Given the description of an element on the screen output the (x, y) to click on. 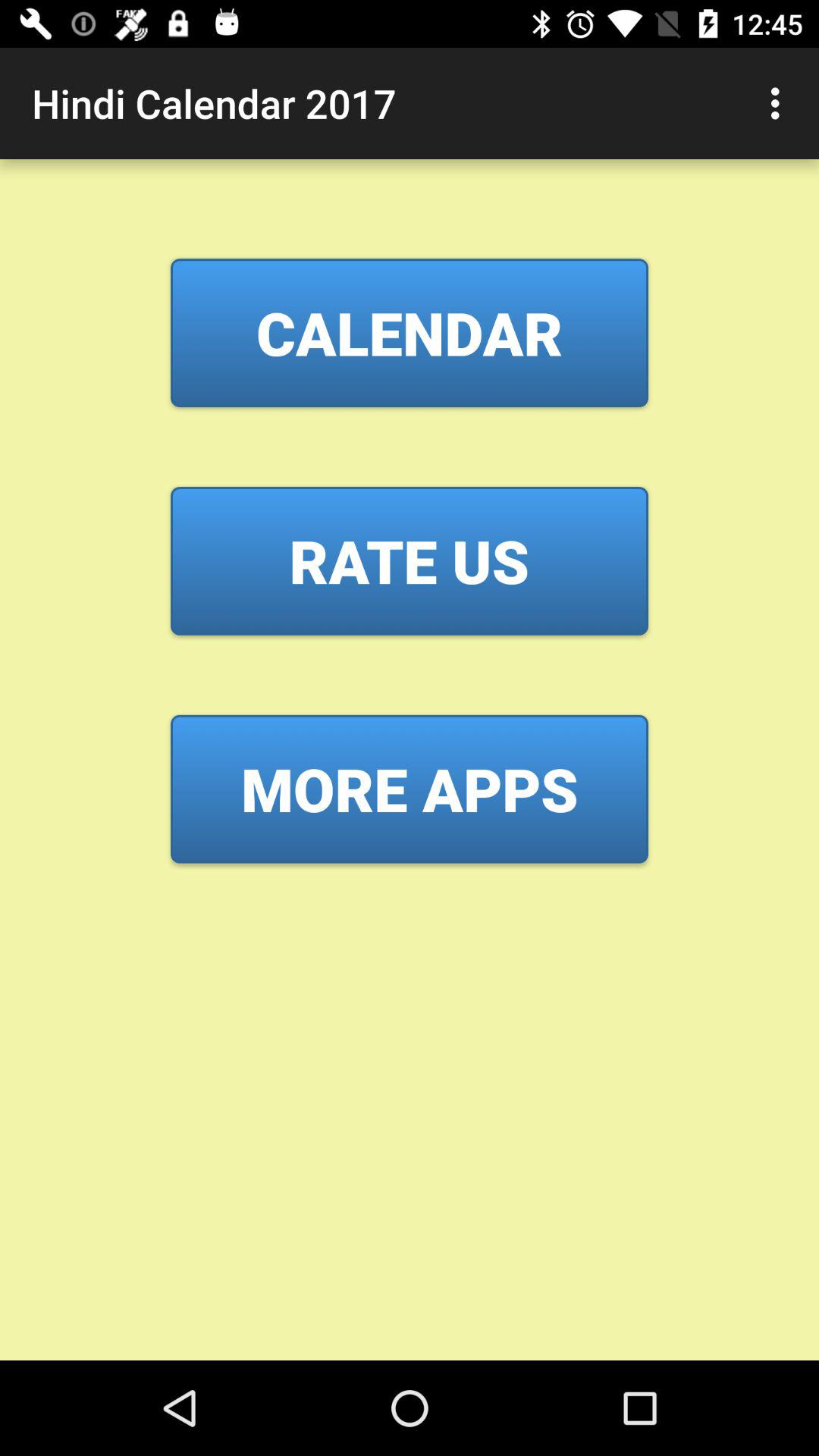
choose item to the right of hindi calendar 2017 icon (779, 103)
